Given the description of an element on the screen output the (x, y) to click on. 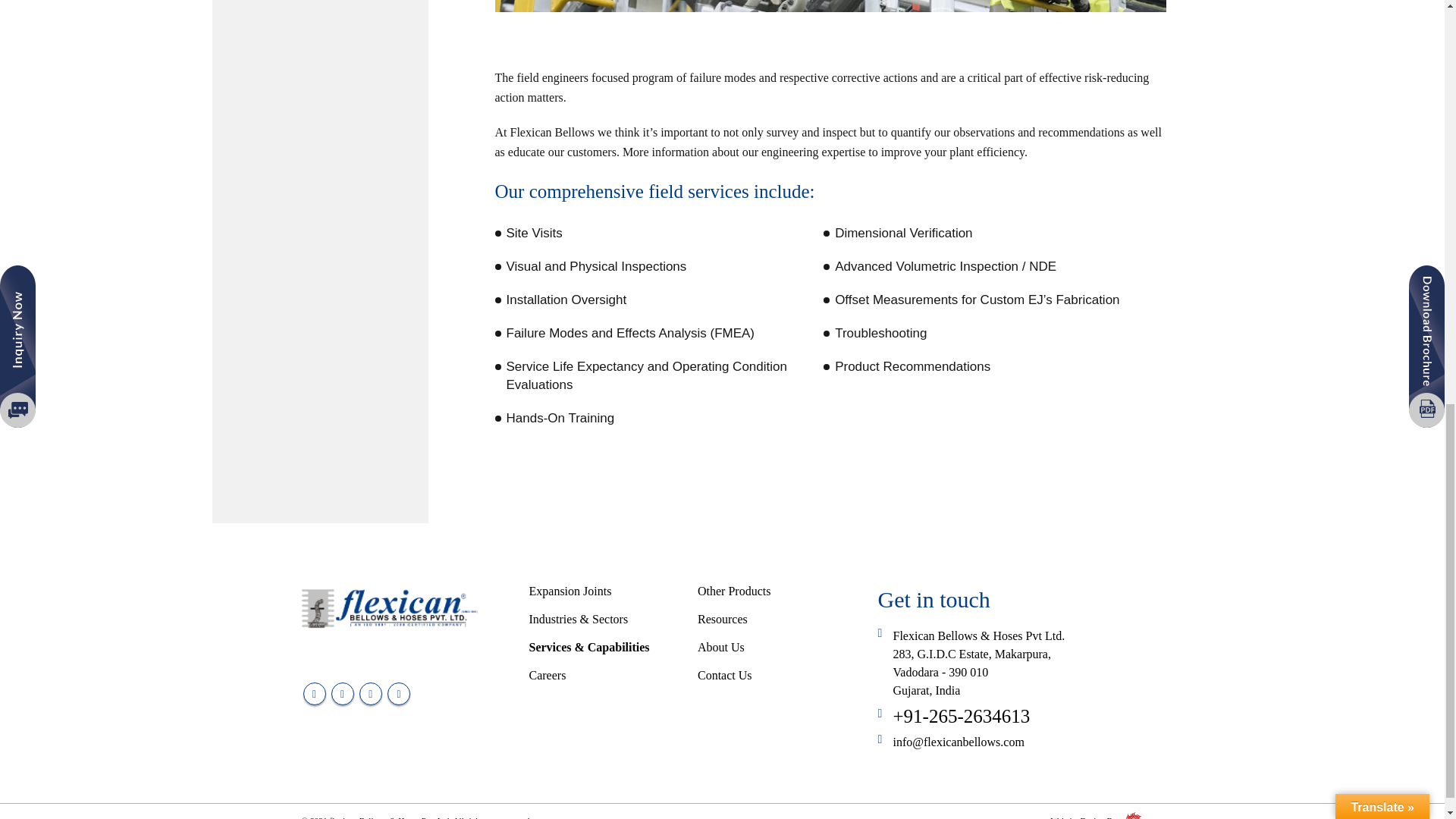
Linkedin (398, 693)
Youtube (370, 693)
Twitter (342, 693)
Facebook (314, 693)
